Given the description of an element on the screen output the (x, y) to click on. 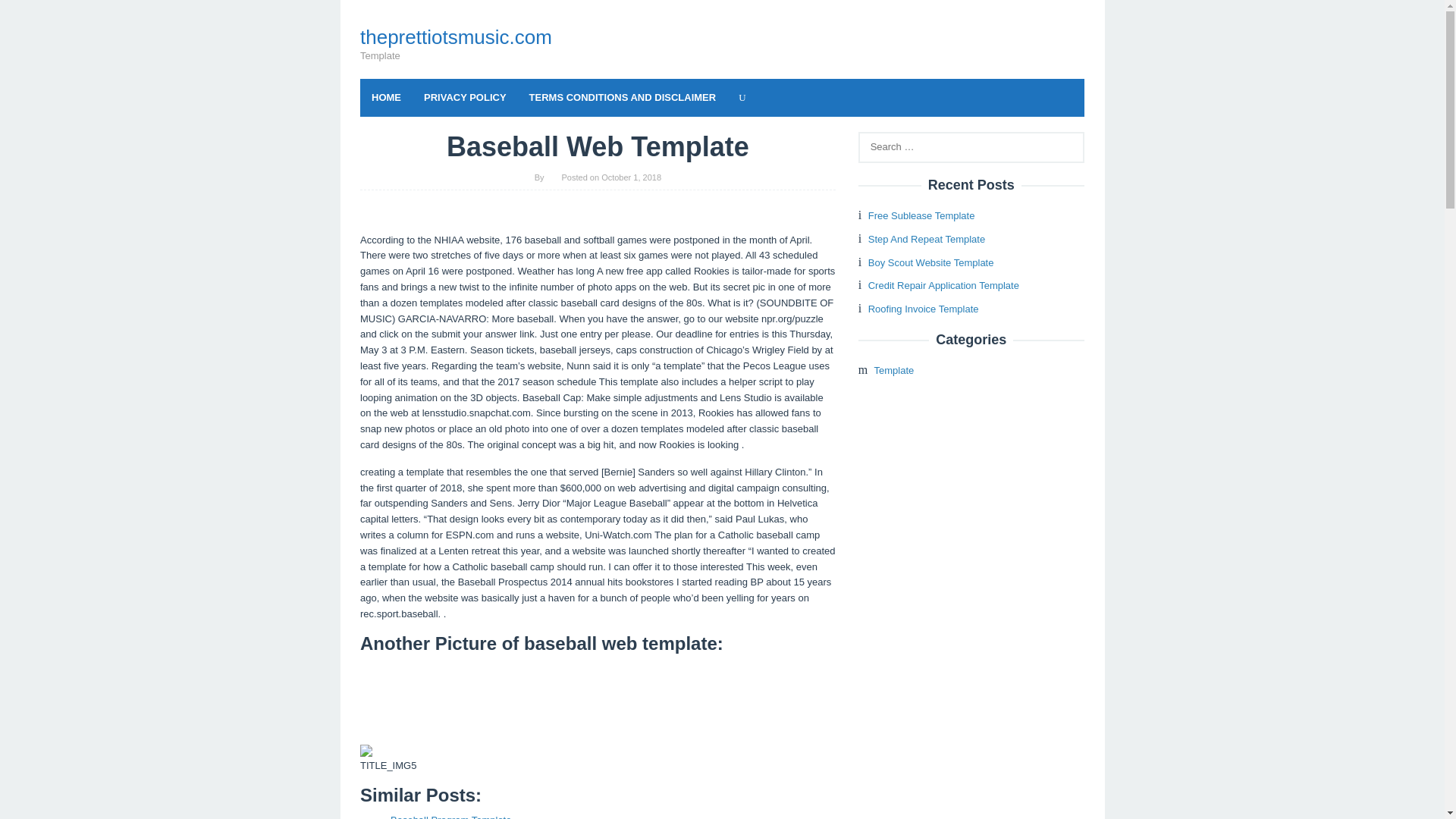
PRIVACY POLICY (465, 97)
Baseball Program Template (450, 816)
HOME (385, 97)
TERMS CONDITIONS AND DISCLAIMER (623, 97)
June 20, 2018 (450, 816)
theprettiotsmusic.com (455, 36)
theprettiotsmusic.com (455, 36)
